Given the description of an element on the screen output the (x, y) to click on. 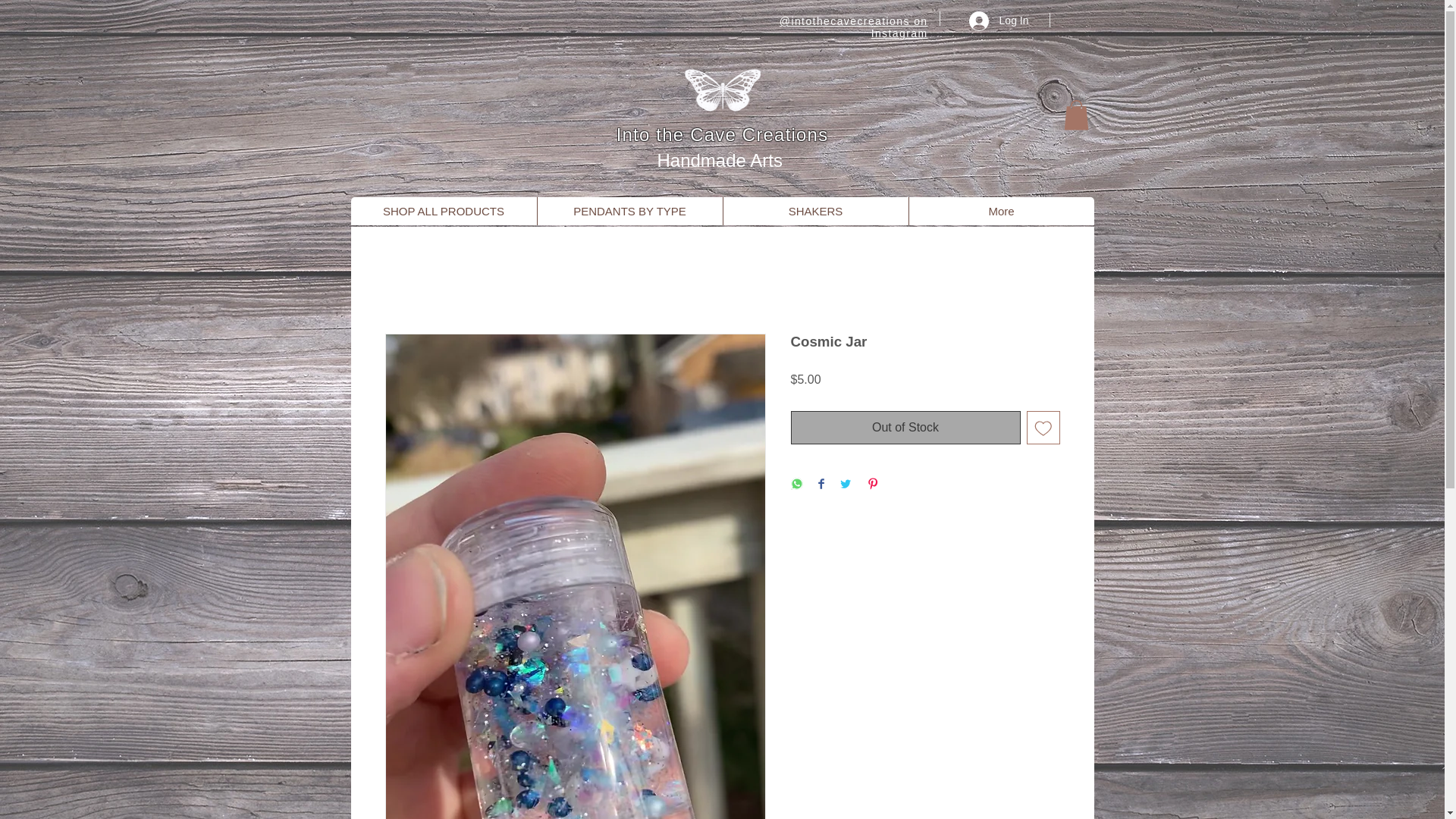
Into the Cave Creations (721, 134)
Out of Stock (905, 427)
SHAKERS (814, 211)
Log In (998, 20)
Handmade Arts  (721, 159)
